Given the description of an element on the screen output the (x, y) to click on. 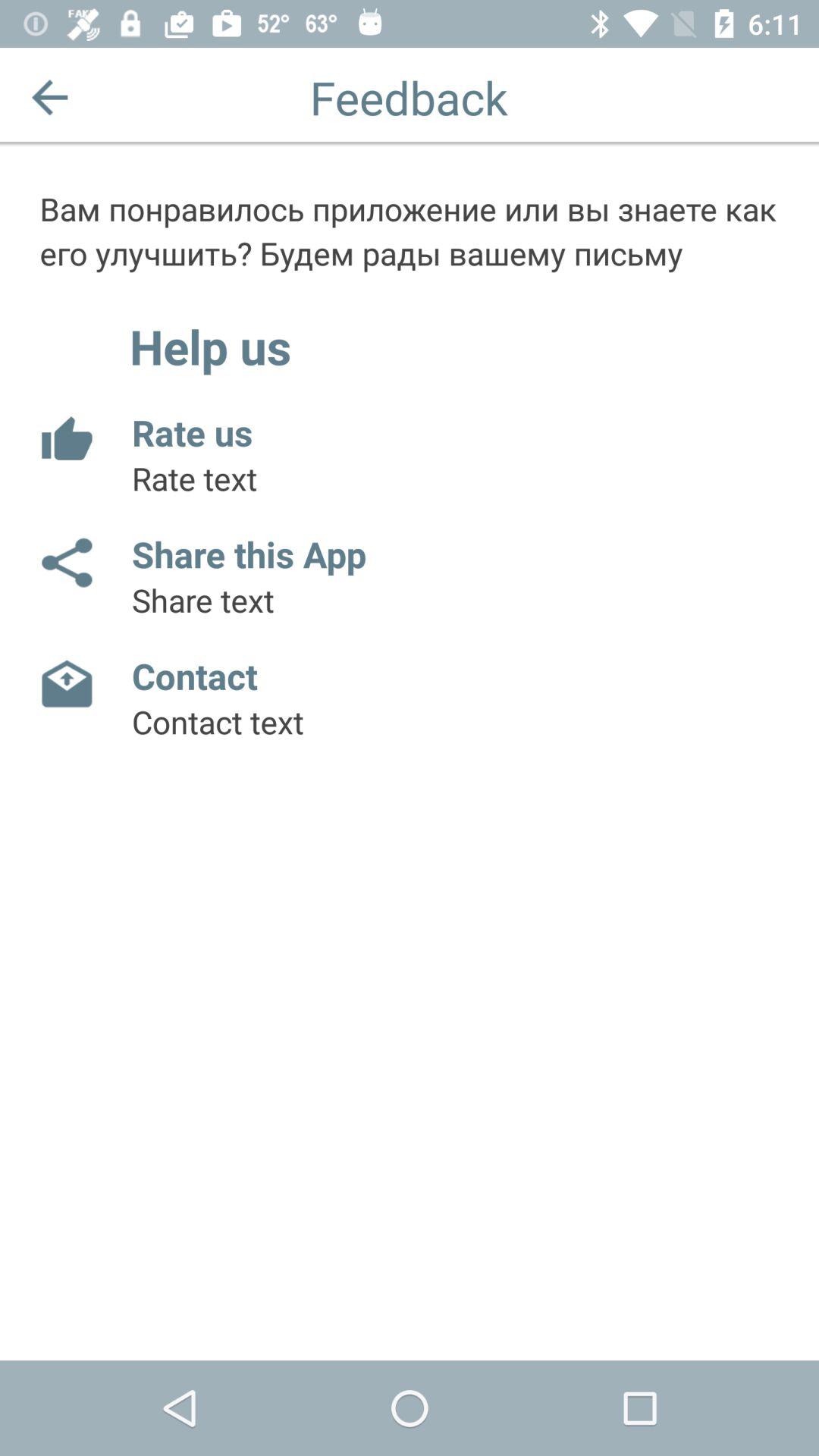
open the icon to the left of the share this app icon (65, 562)
